Given the description of an element on the screen output the (x, y) to click on. 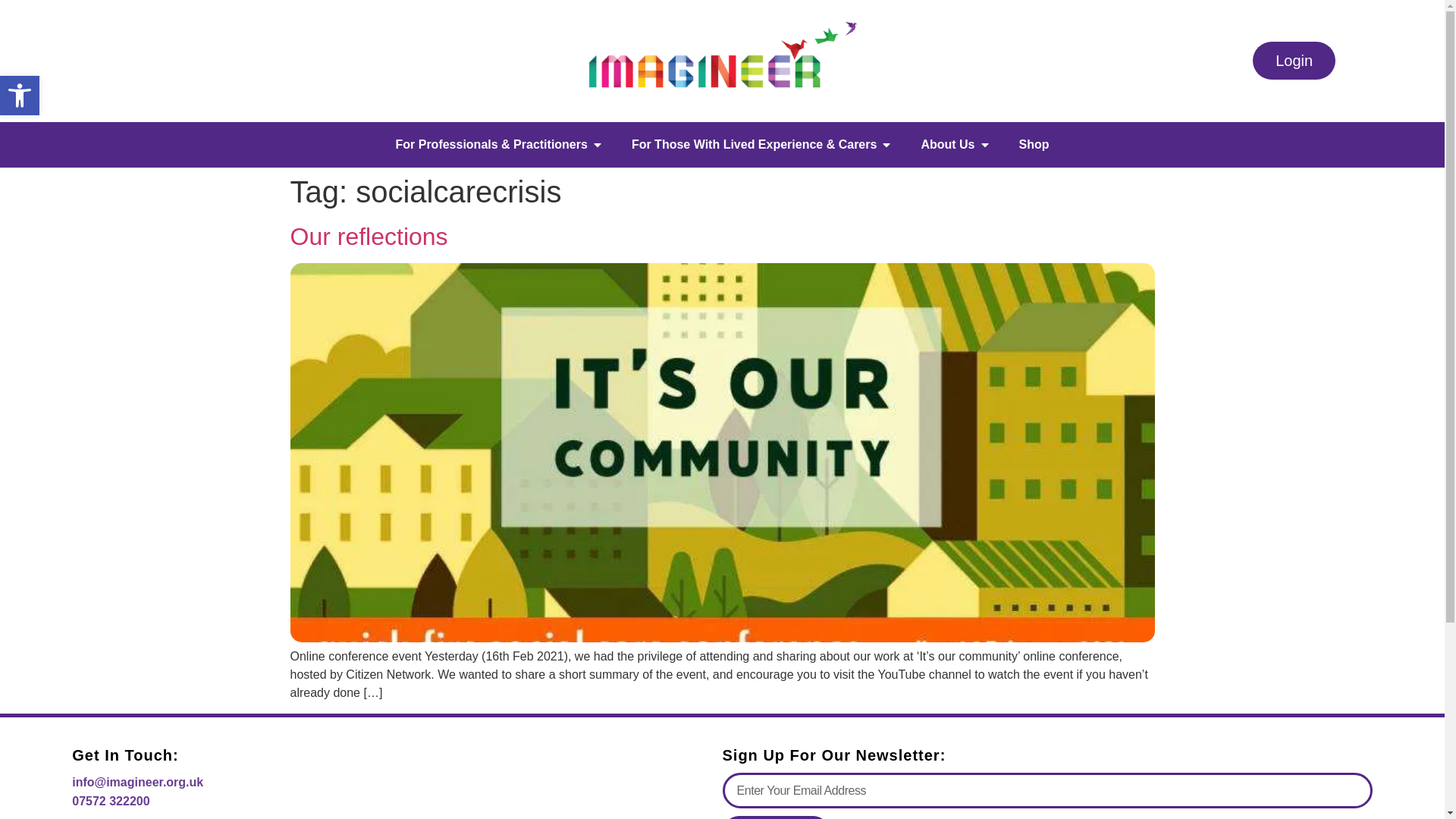
07572 322200 (110, 800)
Accessibility Tools (19, 95)
Shop (1034, 144)
Login (1293, 60)
Our reflections (367, 236)
Accessibility Tools (19, 95)
